Given the description of an element on the screen output the (x, y) to click on. 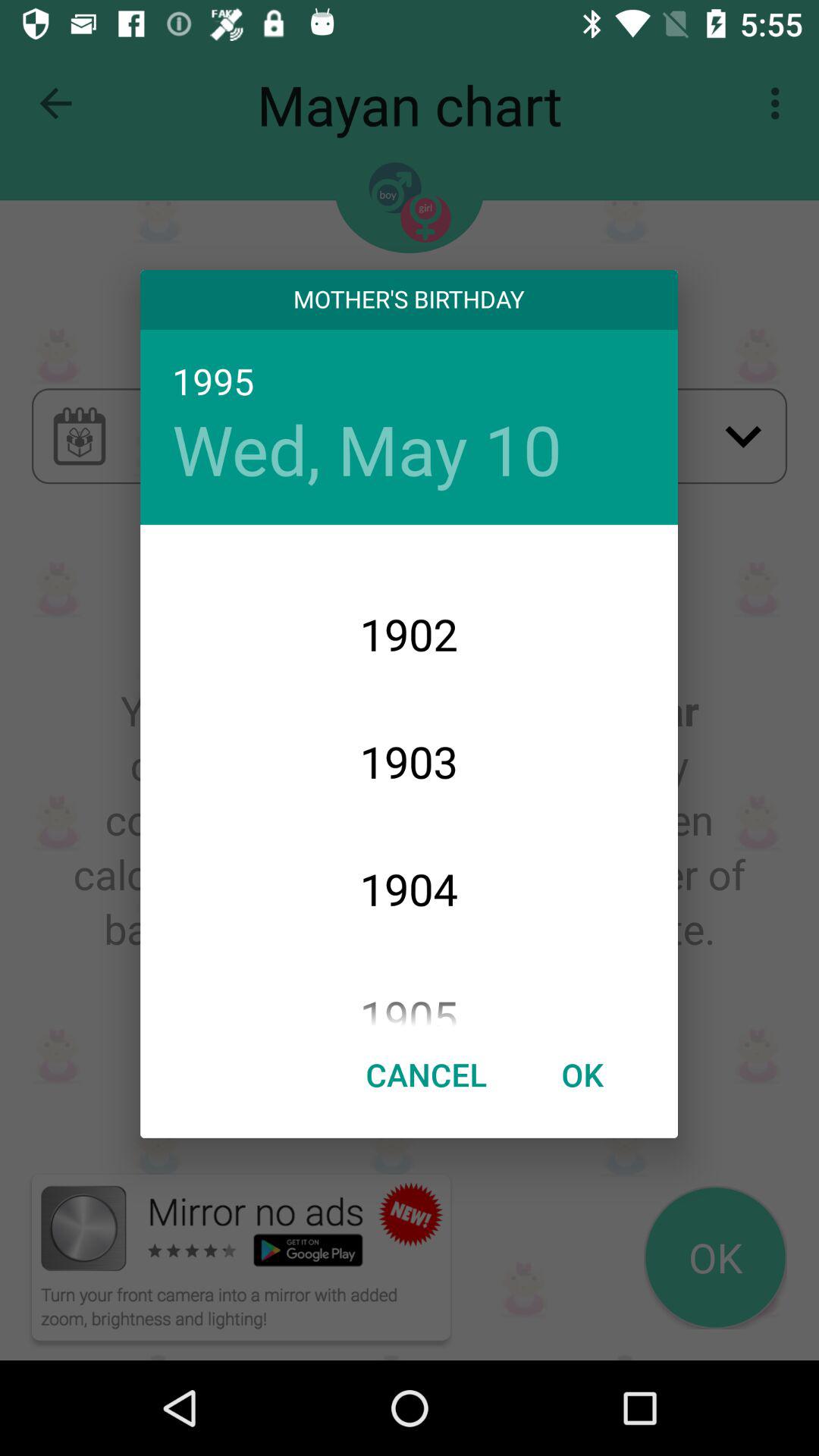
choose item to the left of ok (425, 1074)
